Given the description of an element on the screen output the (x, y) to click on. 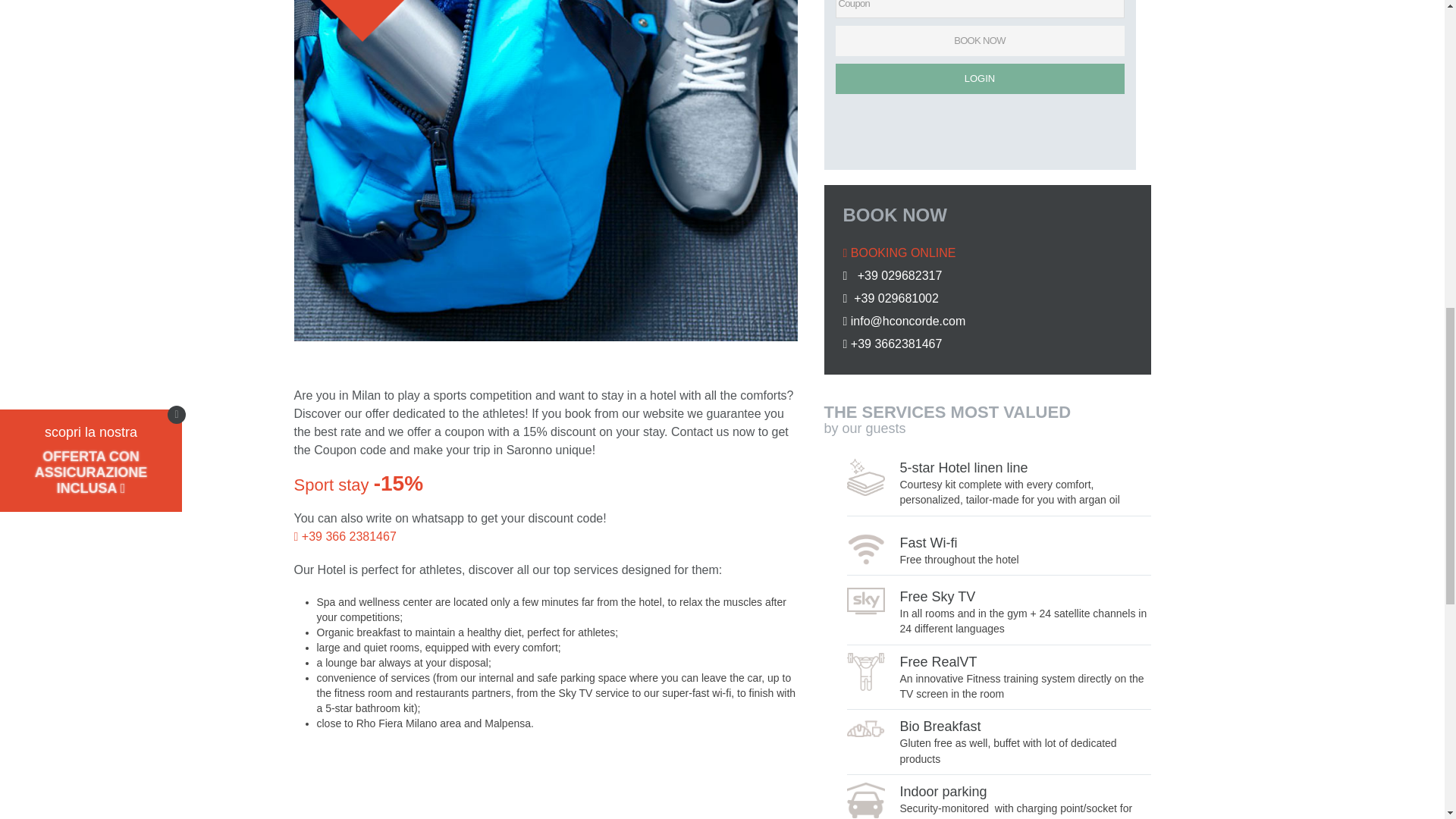
BOOK NOW (979, 40)
LOGIN (979, 78)
BOOKING ONLINE (899, 252)
